Given the description of an element on the screen output the (x, y) to click on. 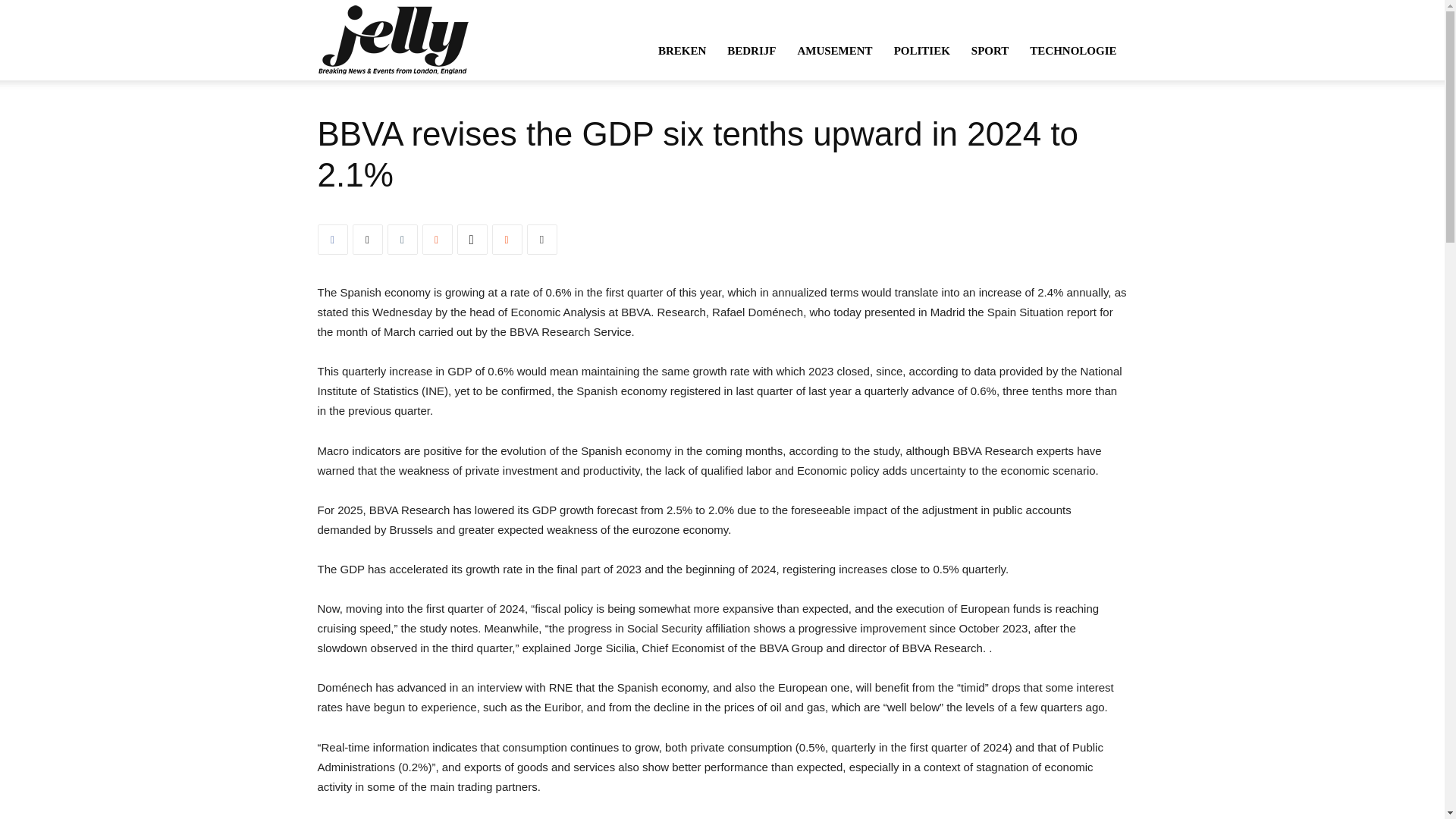
Tumblr (401, 239)
SPORT (989, 50)
BEDRIJF (751, 50)
Afdrukken (540, 239)
Facebook (332, 239)
BREKEN (681, 50)
TECHNOLOGIE (1072, 50)
ReddIt (506, 239)
POLITIEK (921, 50)
AMUSEMENT (834, 50)
